Given the description of an element on the screen output the (x, y) to click on. 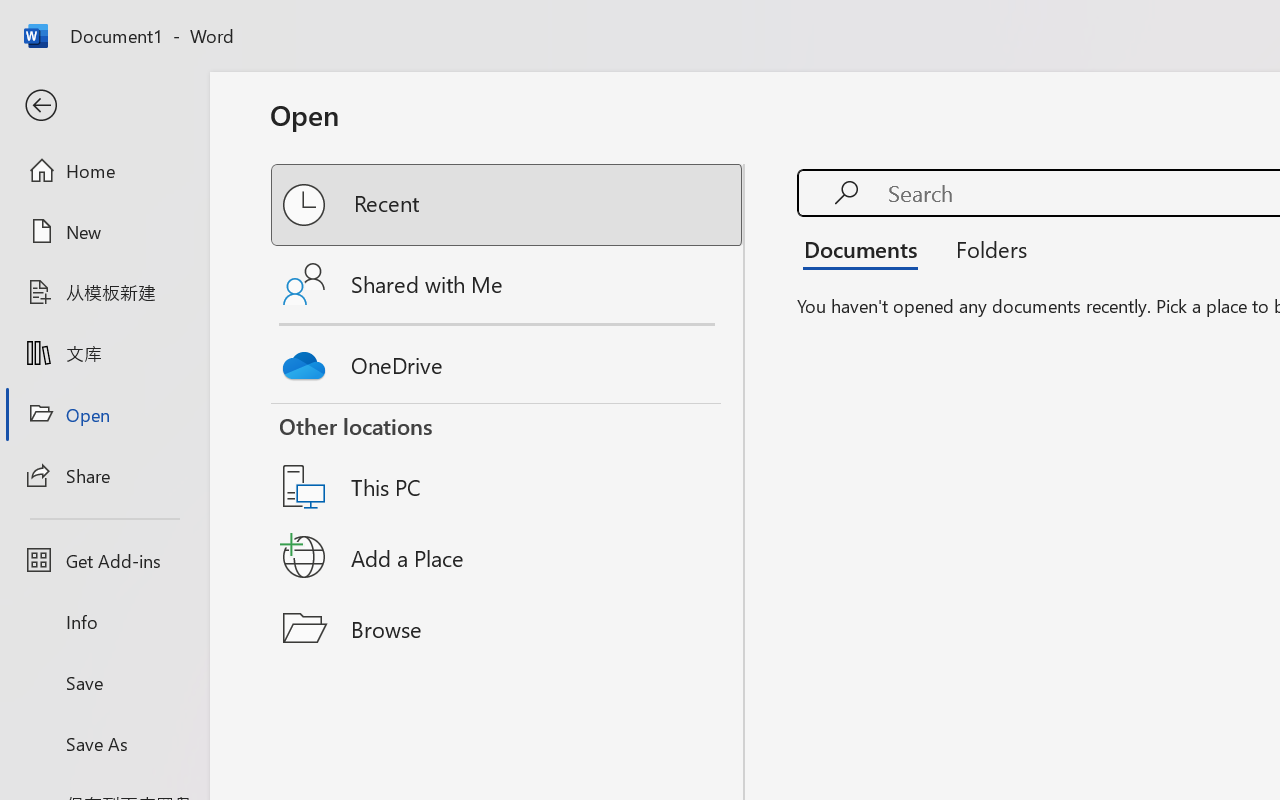
Recent (507, 205)
Save As (104, 743)
This PC (507, 461)
Documents (866, 248)
Shared with Me (507, 283)
